Given the description of an element on the screen output the (x, y) to click on. 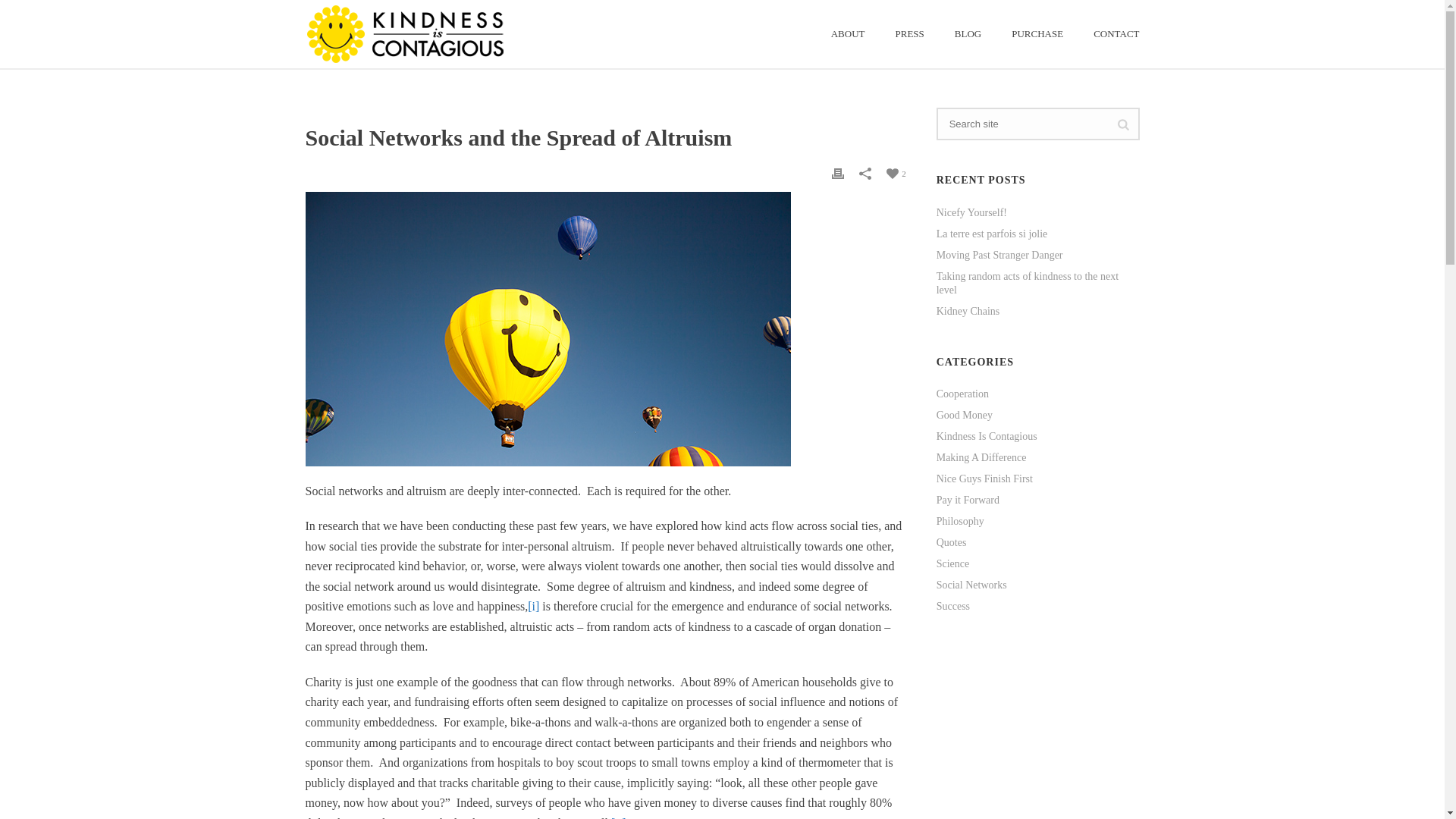
CONTACT (1116, 33)
PURCHASE (1036, 33)
ABOUT (847, 33)
ABOUT (847, 33)
CONTACT (1116, 33)
PURCHASE (1036, 33)
2 (895, 172)
